Given the description of an element on the screen output the (x, y) to click on. 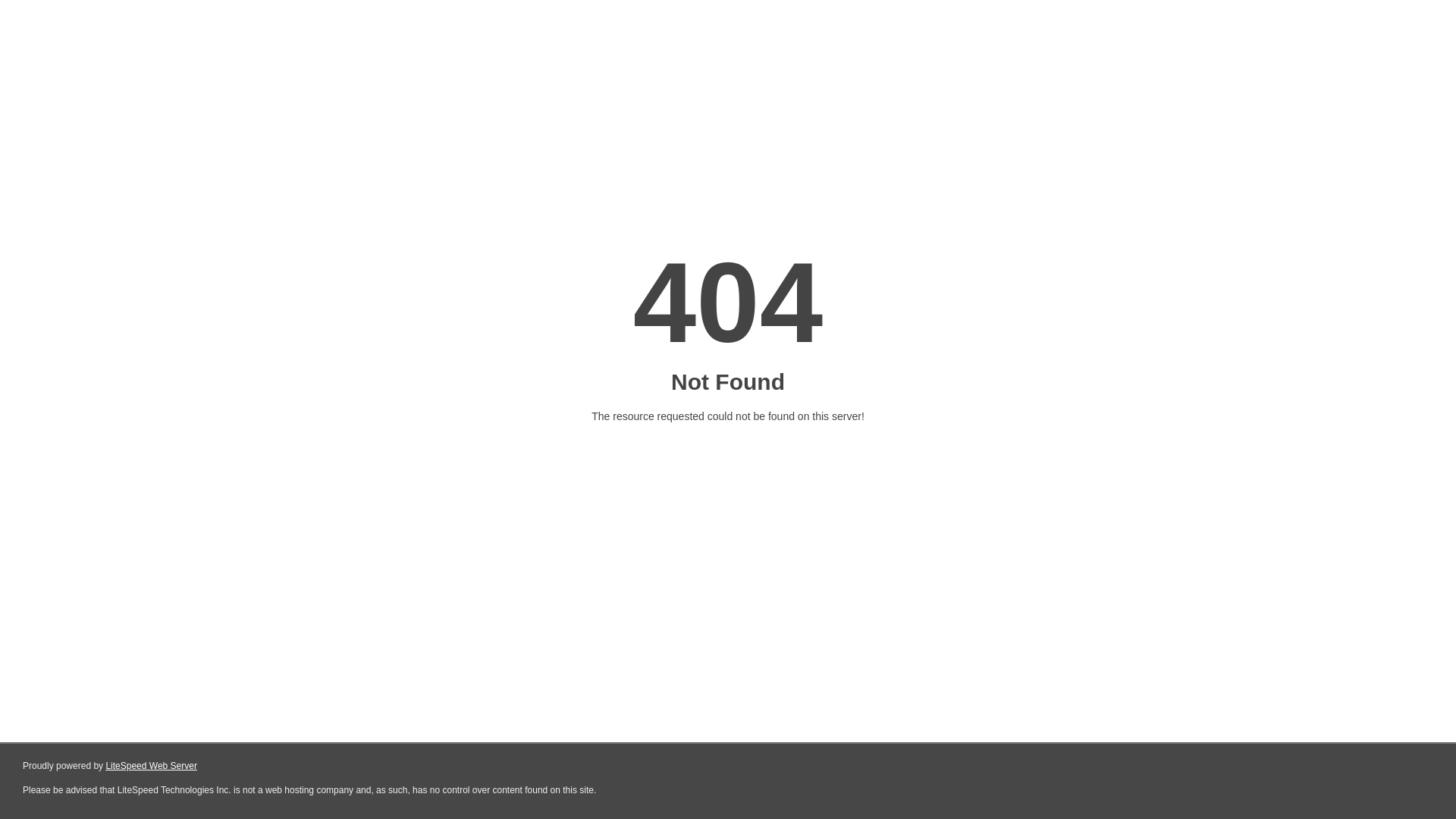
LiteSpeed Web Server Element type: text (151, 765)
